Given the description of an element on the screen output the (x, y) to click on. 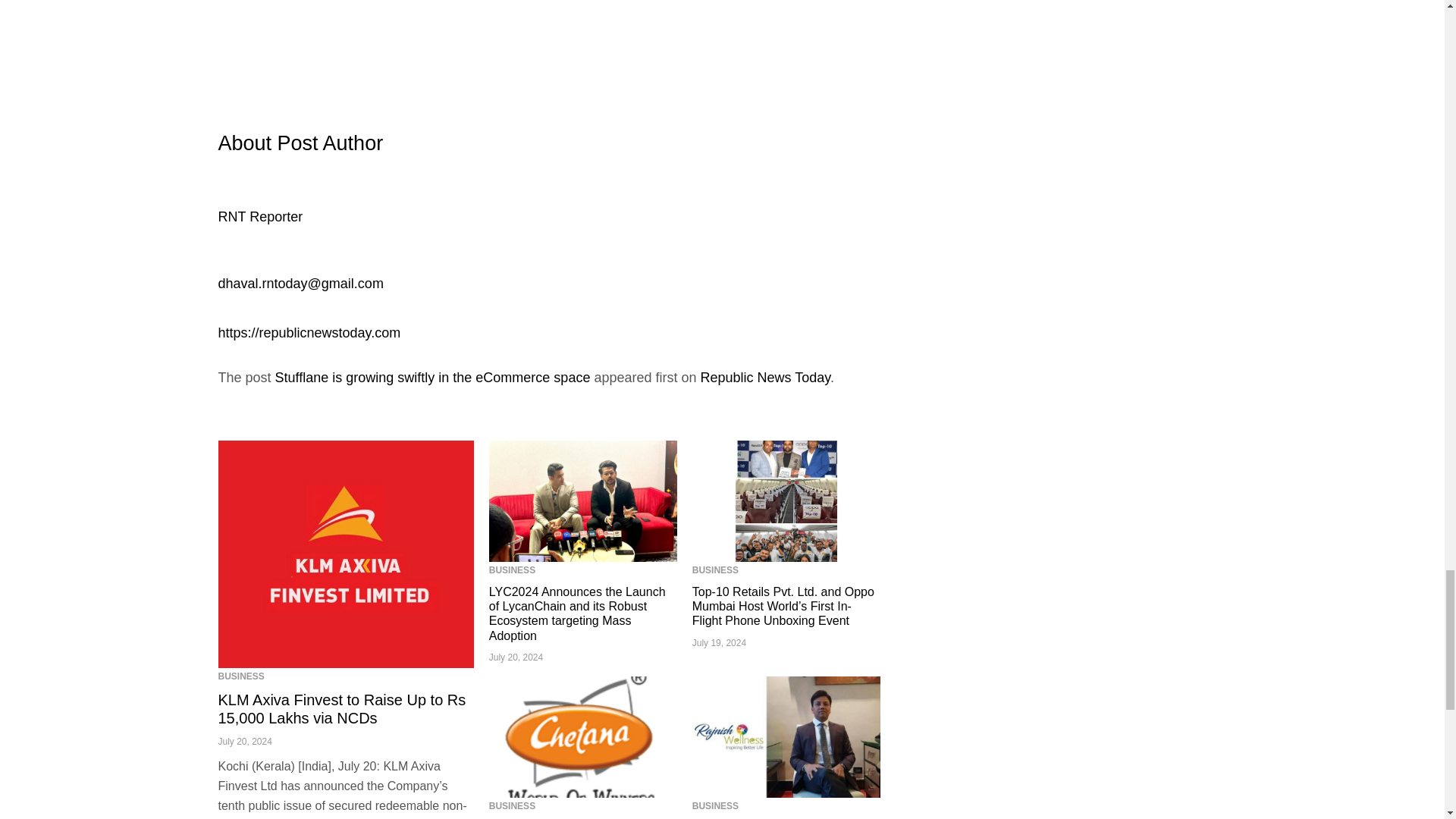
July 19, 2024 (719, 643)
July 20, 2024 (516, 656)
July 20, 2024 (245, 741)
BUSINESS (512, 805)
RNT Reporter (260, 228)
KLM Axiva Finvest to Raise Up to Rs 15,000 Lakhs via NCDs (346, 554)
BUSINESS (512, 569)
BUSINESS (715, 569)
KLM Axiva Finvest to Raise Up to Rs 15,000 Lakhs via NCDs (341, 708)
Stufflane is growing swiftly in the eCommerce space (433, 377)
Republic News Today (764, 377)
